Given the description of an element on the screen output the (x, y) to click on. 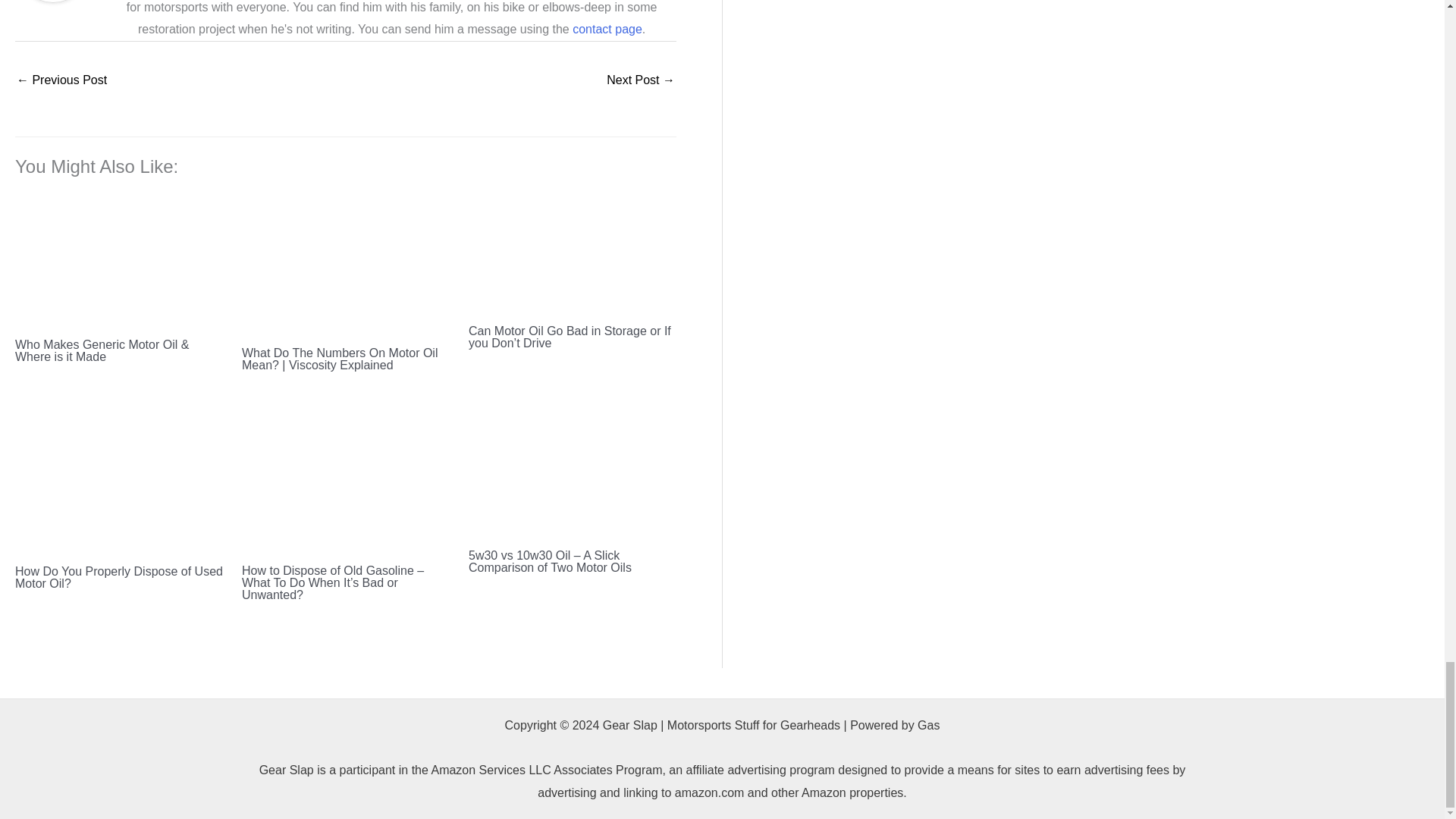
What is a Contingency Program in Auto Racing (61, 81)
contact page (607, 29)
How Do You Fill Up A Car Battery With "Charging Fluid"? (641, 81)
